Given the description of an element on the screen output the (x, y) to click on. 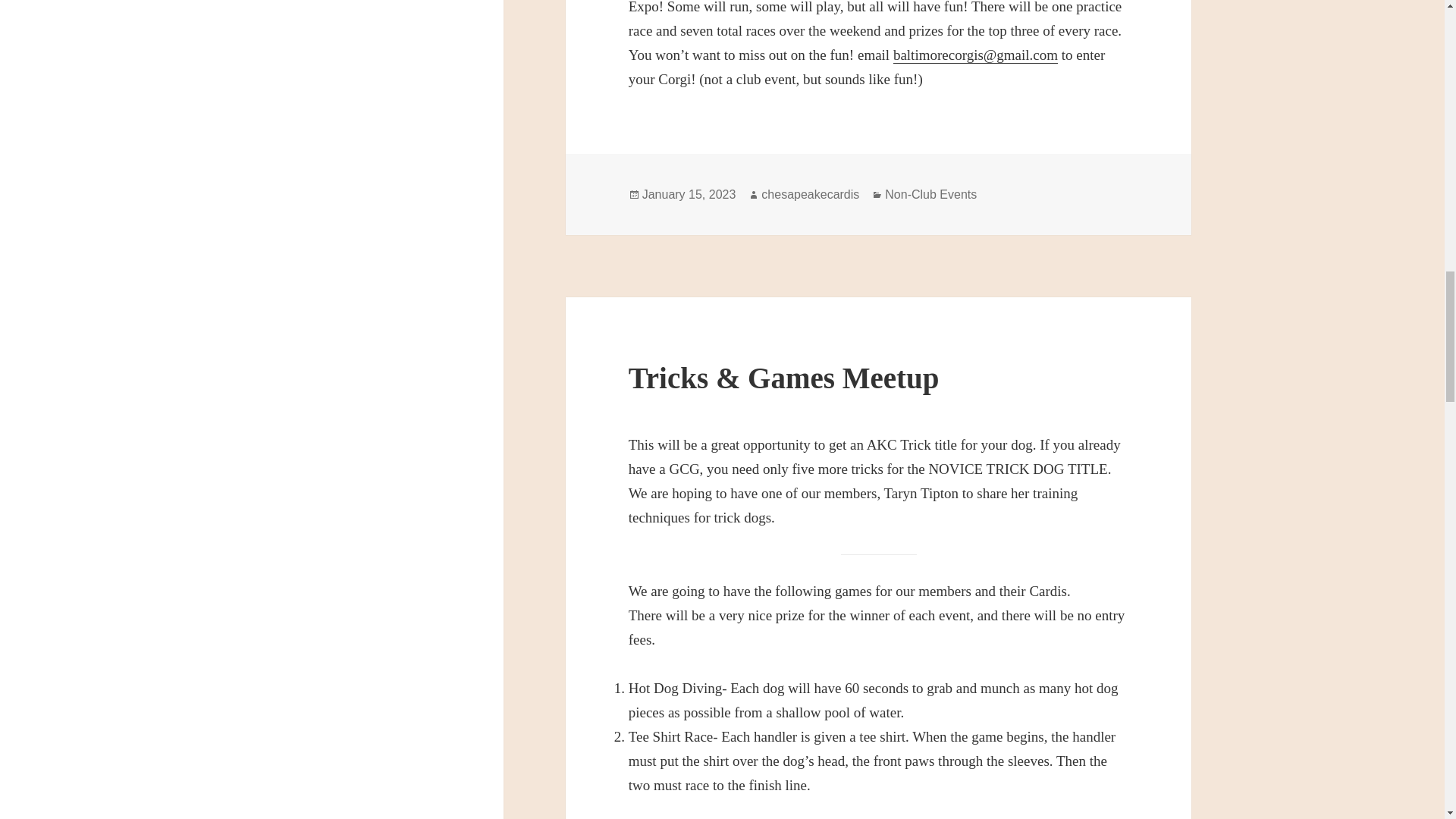
Non-Club Events (930, 194)
January 15, 2023 (689, 194)
chesapeakecardis (810, 194)
